Given the description of an element on the screen output the (x, y) to click on. 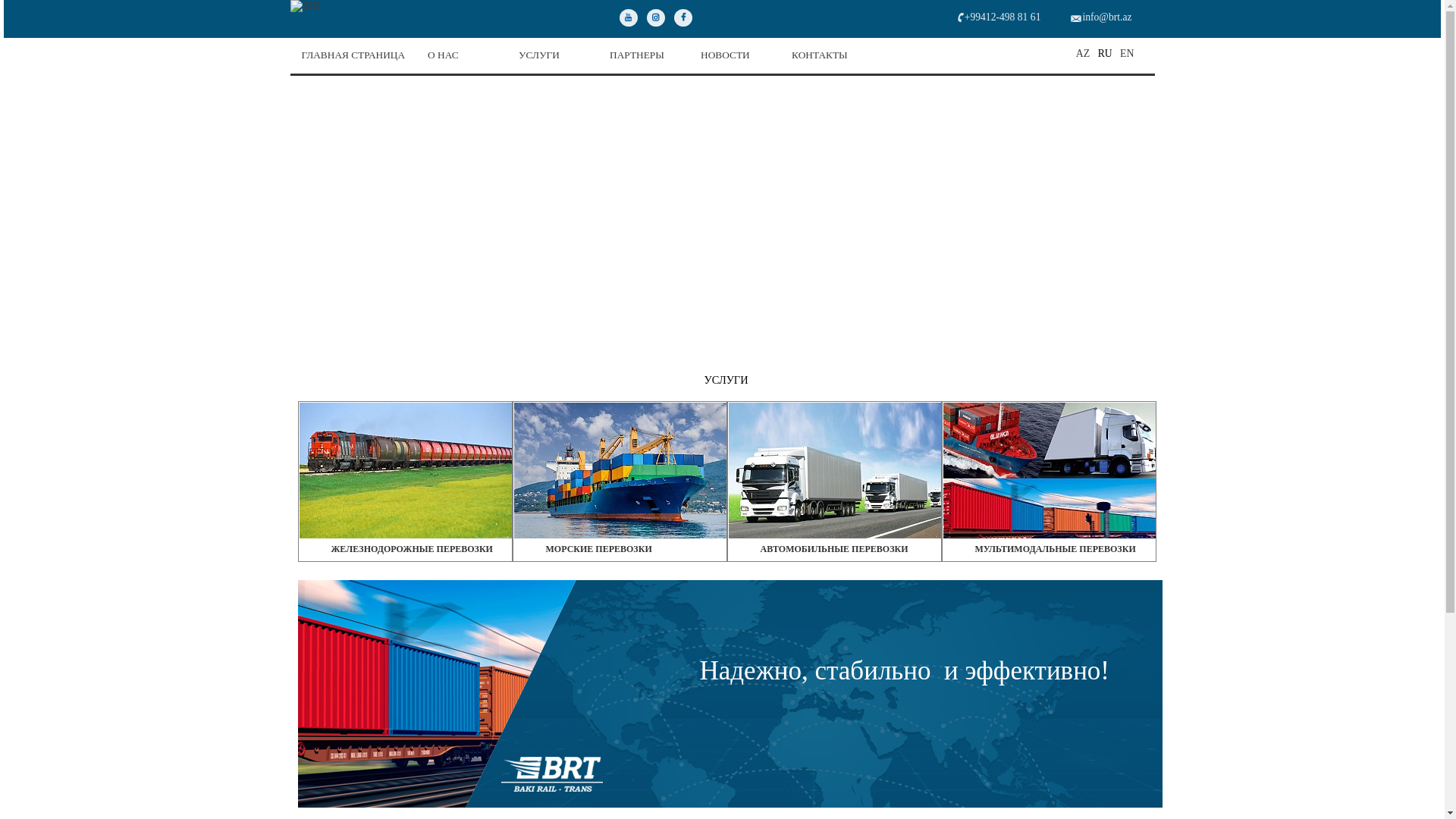
EN Element type: text (1127, 53)
BRT Element type: hover (305, 6)
AZ Element type: text (1083, 53)
